Given the description of an element on the screen output the (x, y) to click on. 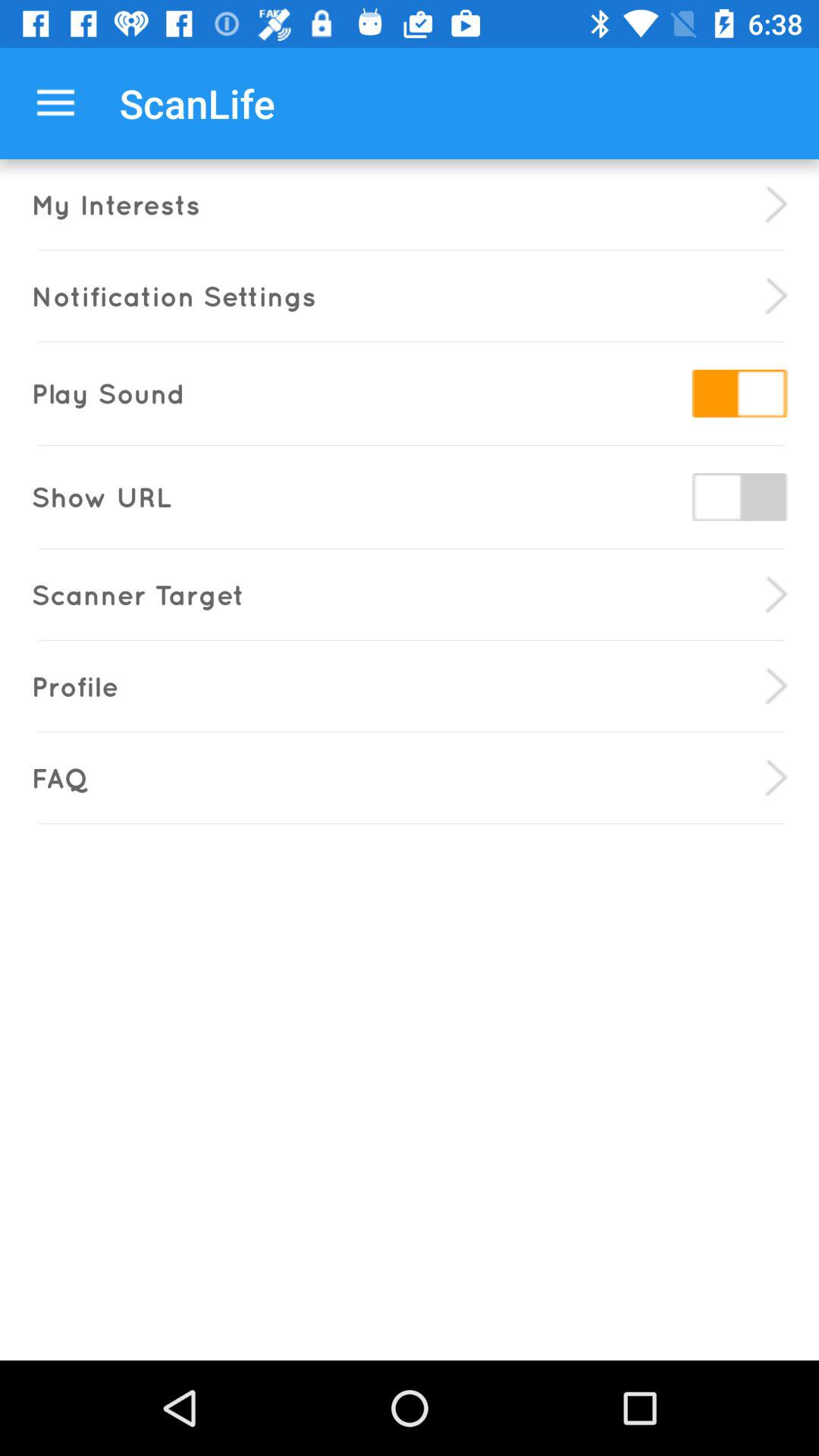
turn on app next to scanlife app (55, 103)
